Given the description of an element on the screen output the (x, y) to click on. 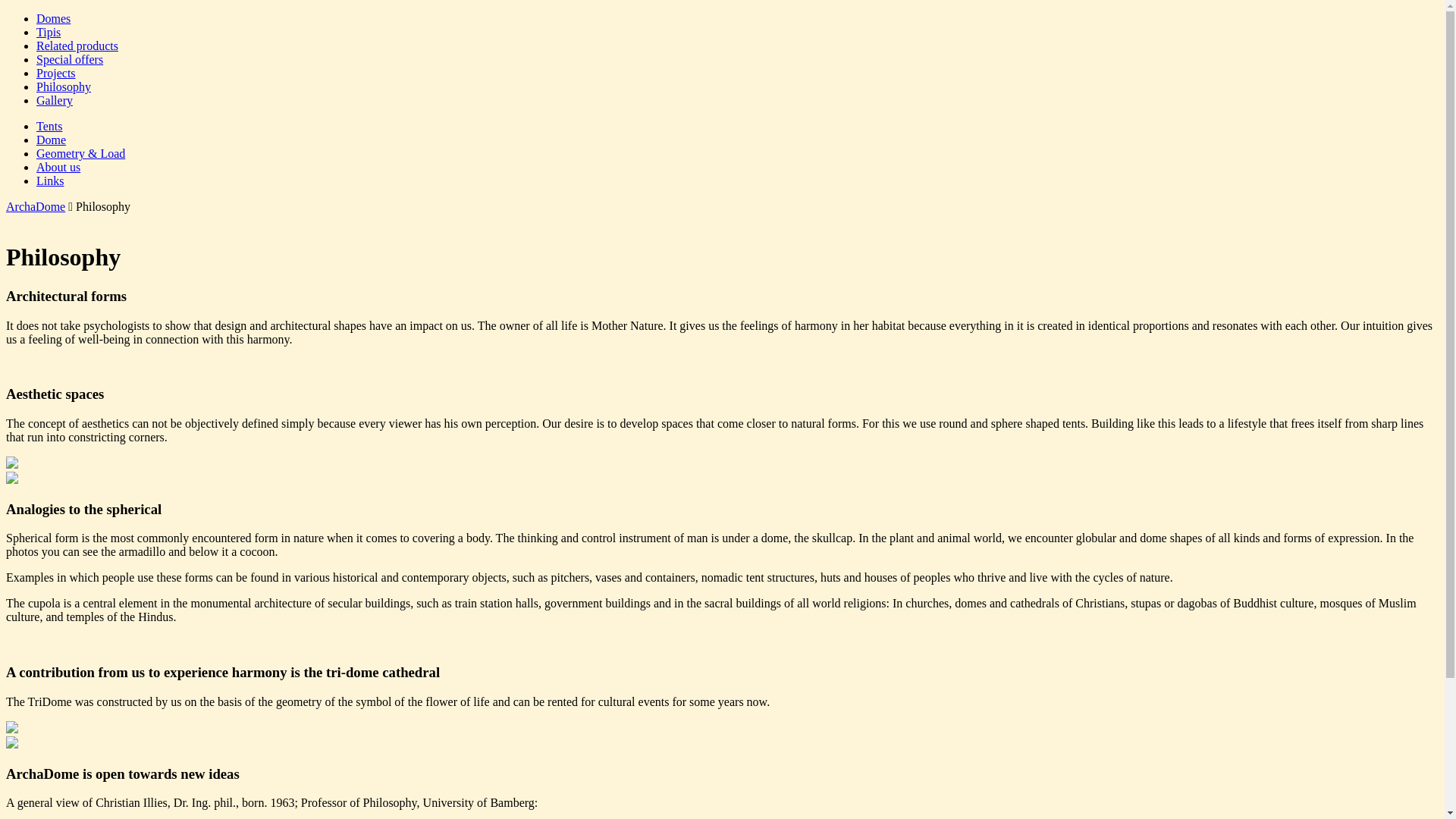
Related products Element type: text (77, 45)
ArchaDome Element type: text (35, 206)
Gallery Element type: text (54, 100)
Dome Element type: text (50, 139)
Philosophy Element type: text (63, 86)
About us Element type: text (58, 166)
Tipis Element type: text (48, 31)
Projects Element type: text (55, 72)
Links Element type: text (49, 180)
Geometry & Load Element type: text (80, 153)
Domes Element type: text (53, 18)
Tents Element type: text (49, 125)
Special offers Element type: text (69, 59)
